Given the description of an element on the screen output the (x, y) to click on. 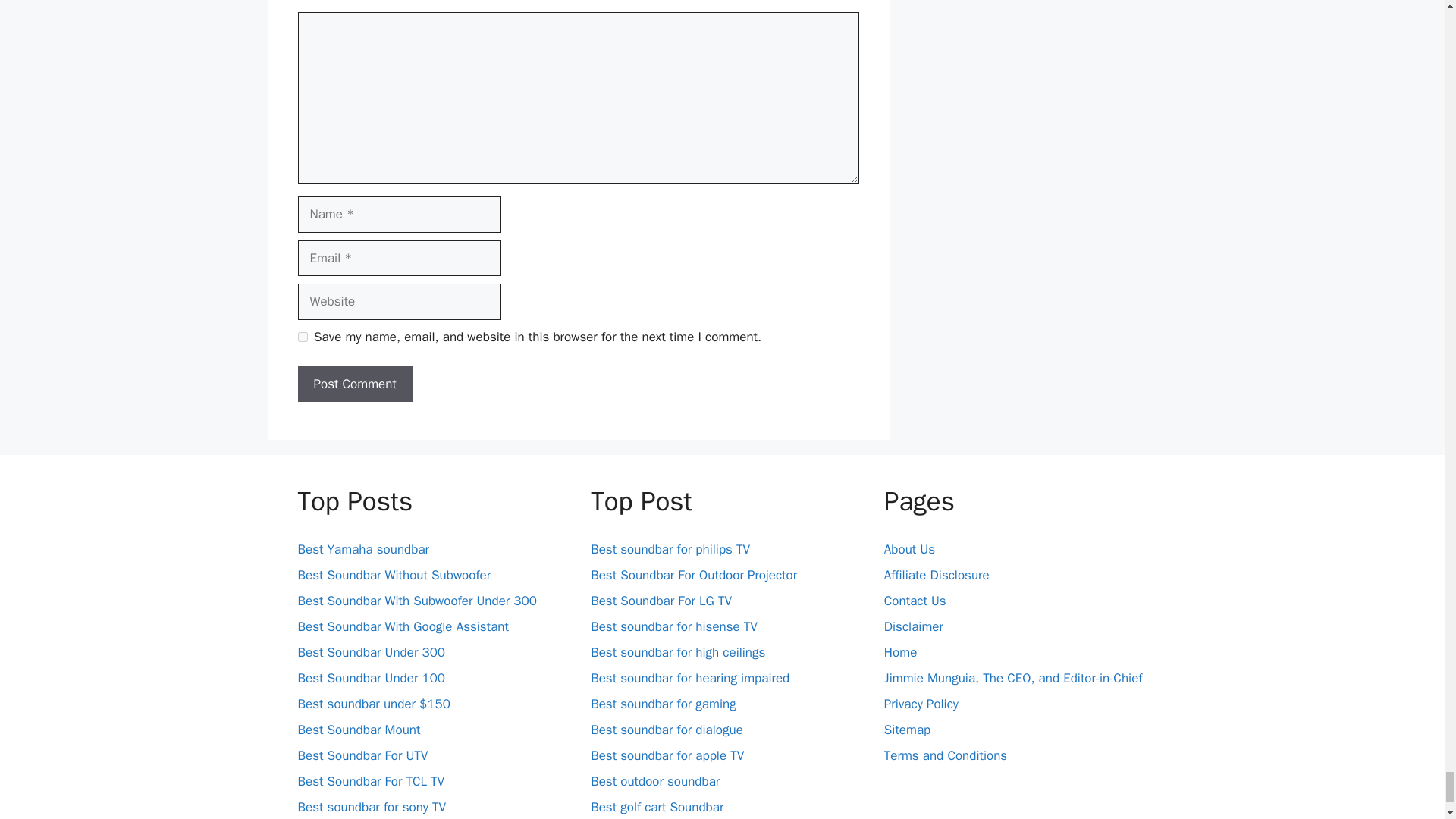
Post Comment (354, 384)
yes (302, 337)
